Given the description of an element on the screen output the (x, y) to click on. 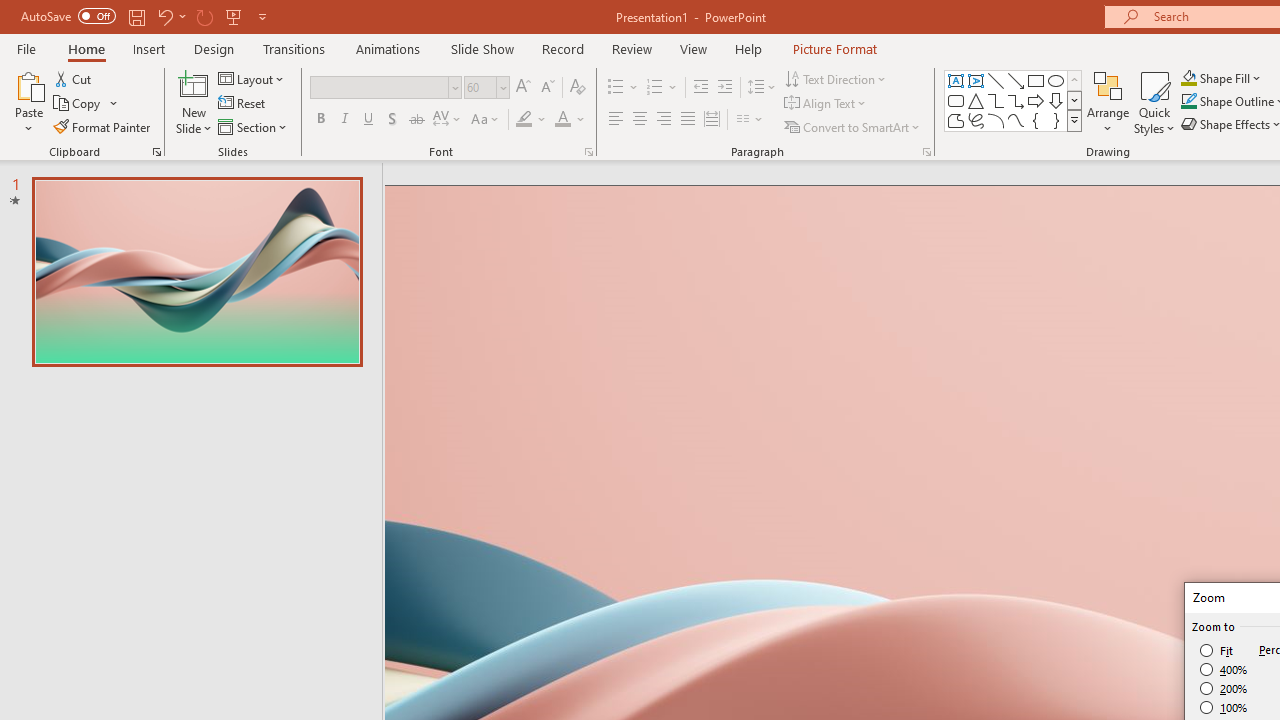
Underline (369, 119)
Line Spacing (762, 87)
Font... (588, 151)
Font Size (480, 87)
Arc (995, 120)
Class: NetUIImage (1075, 120)
Connector: Elbow (995, 100)
Shape Fill Orange, Accent 2 (1188, 78)
New Slide (193, 102)
100% (1224, 707)
Bullets (616, 87)
Bullets (623, 87)
